Given the description of an element on the screen output the (x, y) to click on. 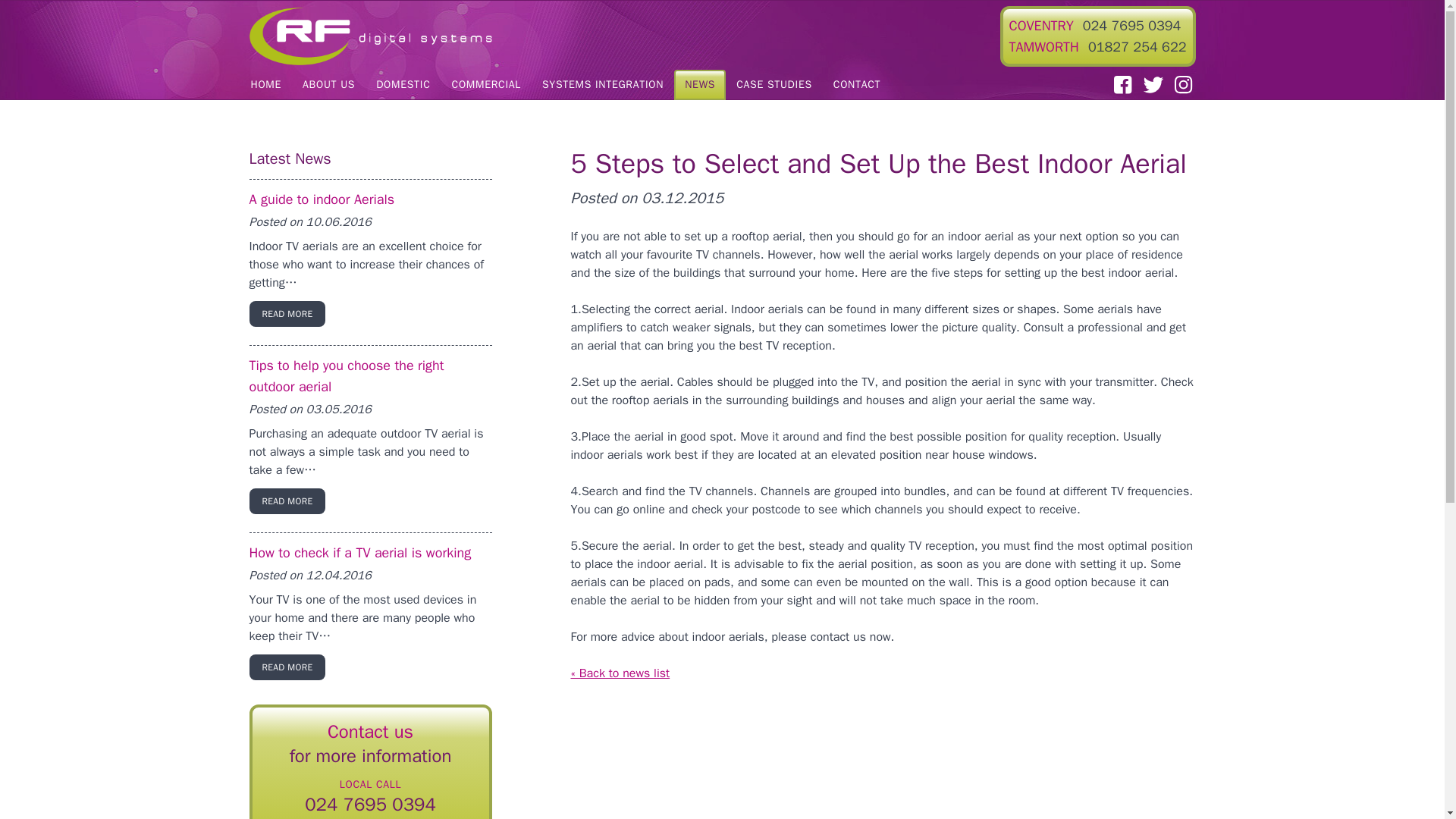
01827 254 622 (1136, 46)
DOMESTIC (403, 84)
CONTACT (856, 84)
024 7695 0394 (1131, 25)
NEWS (699, 84)
SYSTEMS INTEGRATION (602, 84)
HOME (266, 84)
ABOUT US (328, 84)
CASE STUDIES (773, 84)
COMMERCIAL (486, 84)
